Given the description of an element on the screen output the (x, y) to click on. 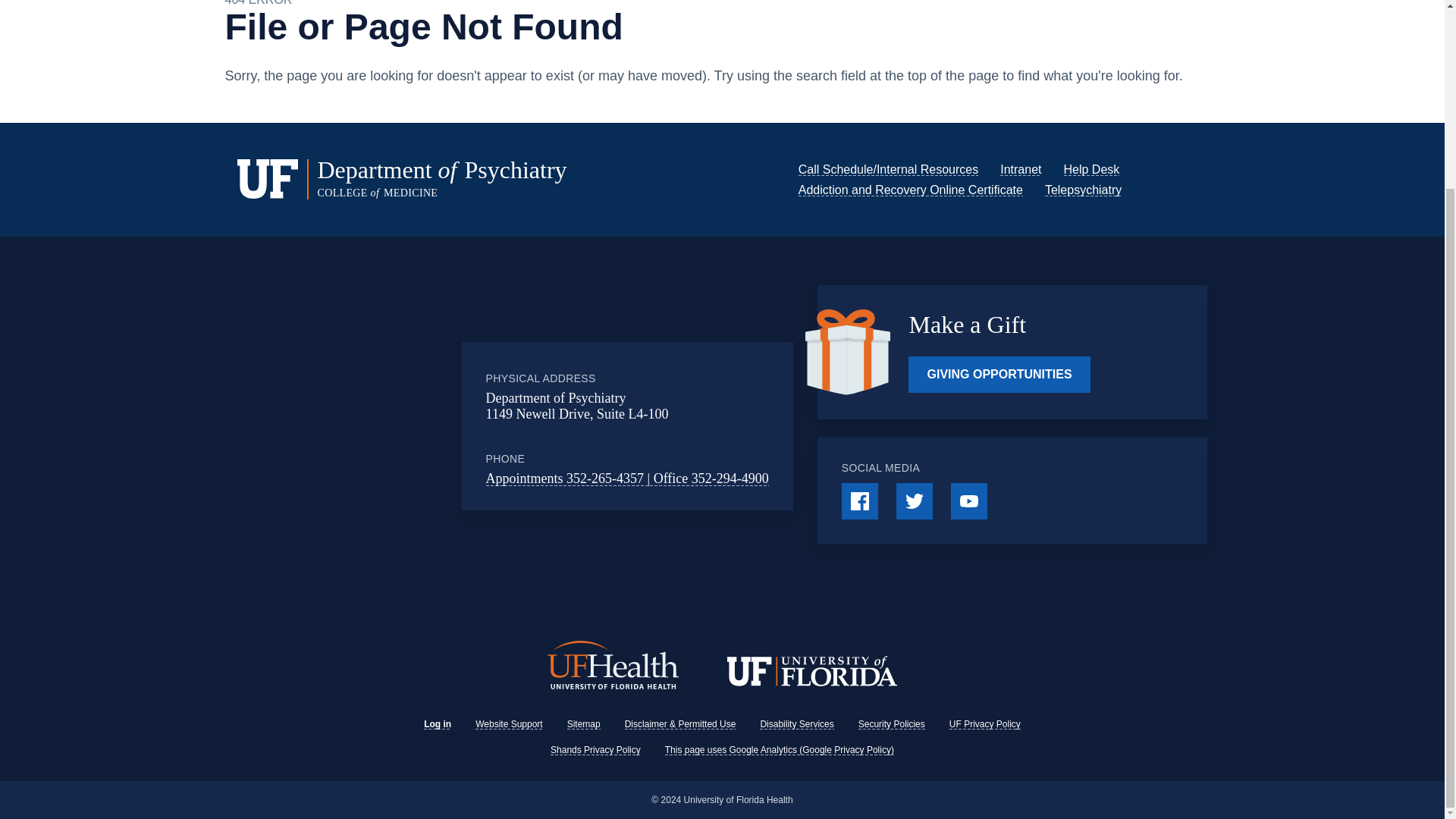
Telepsychiatry (1083, 189)
Google Maps Embed (396, 425)
Log in (437, 724)
Sitemap (583, 724)
Shands Privacy Policy (595, 749)
Security Policies (891, 724)
Website Support (509, 724)
Help Desk (1090, 169)
Disability Services (796, 724)
Intranet (1020, 169)
Addiction and Recovery Online Certificate (910, 189)
UF Privacy Policy (984, 724)
